Given the description of an element on the screen output the (x, y) to click on. 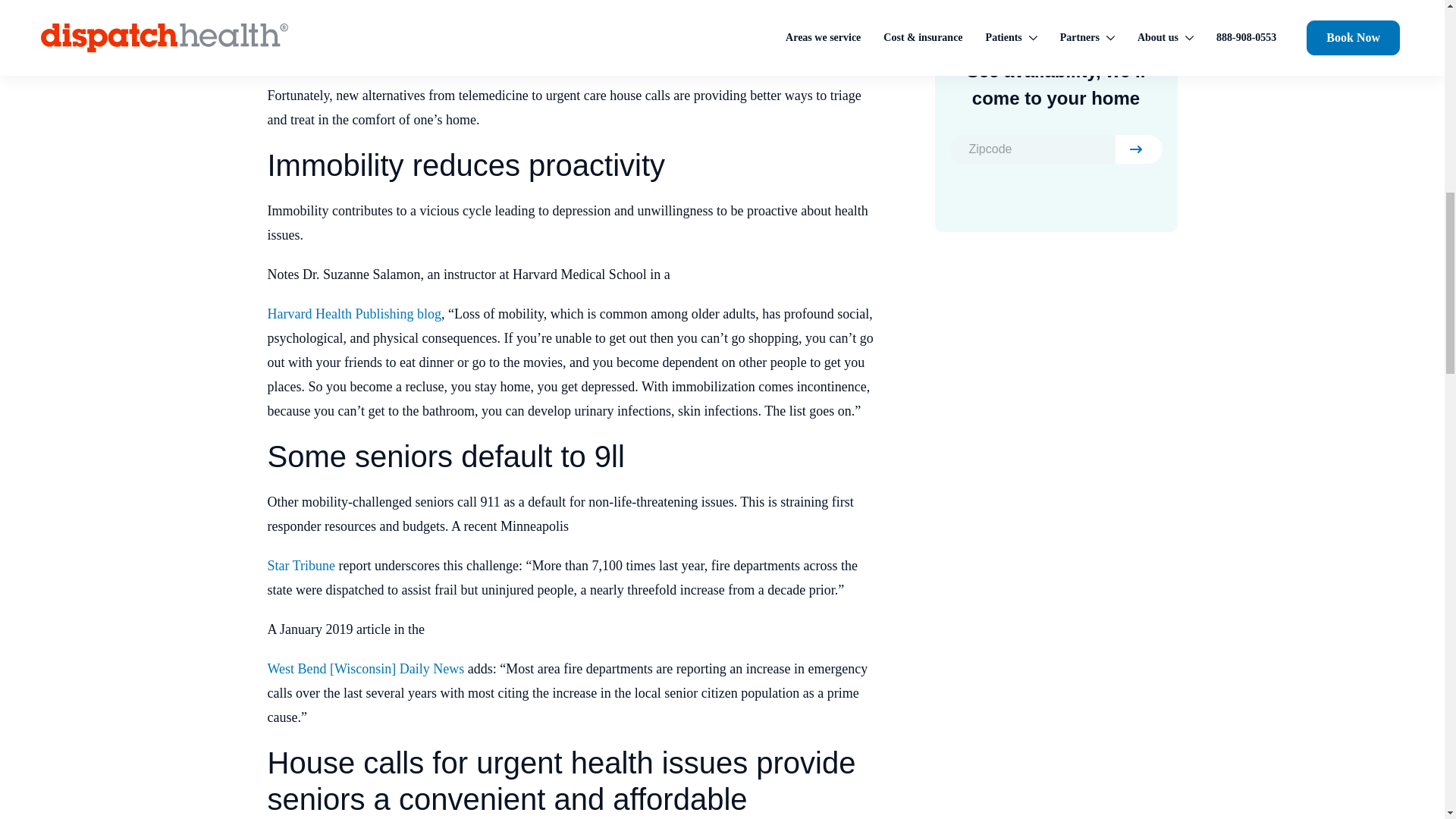
Enter (1138, 149)
